Given the description of an element on the screen output the (x, y) to click on. 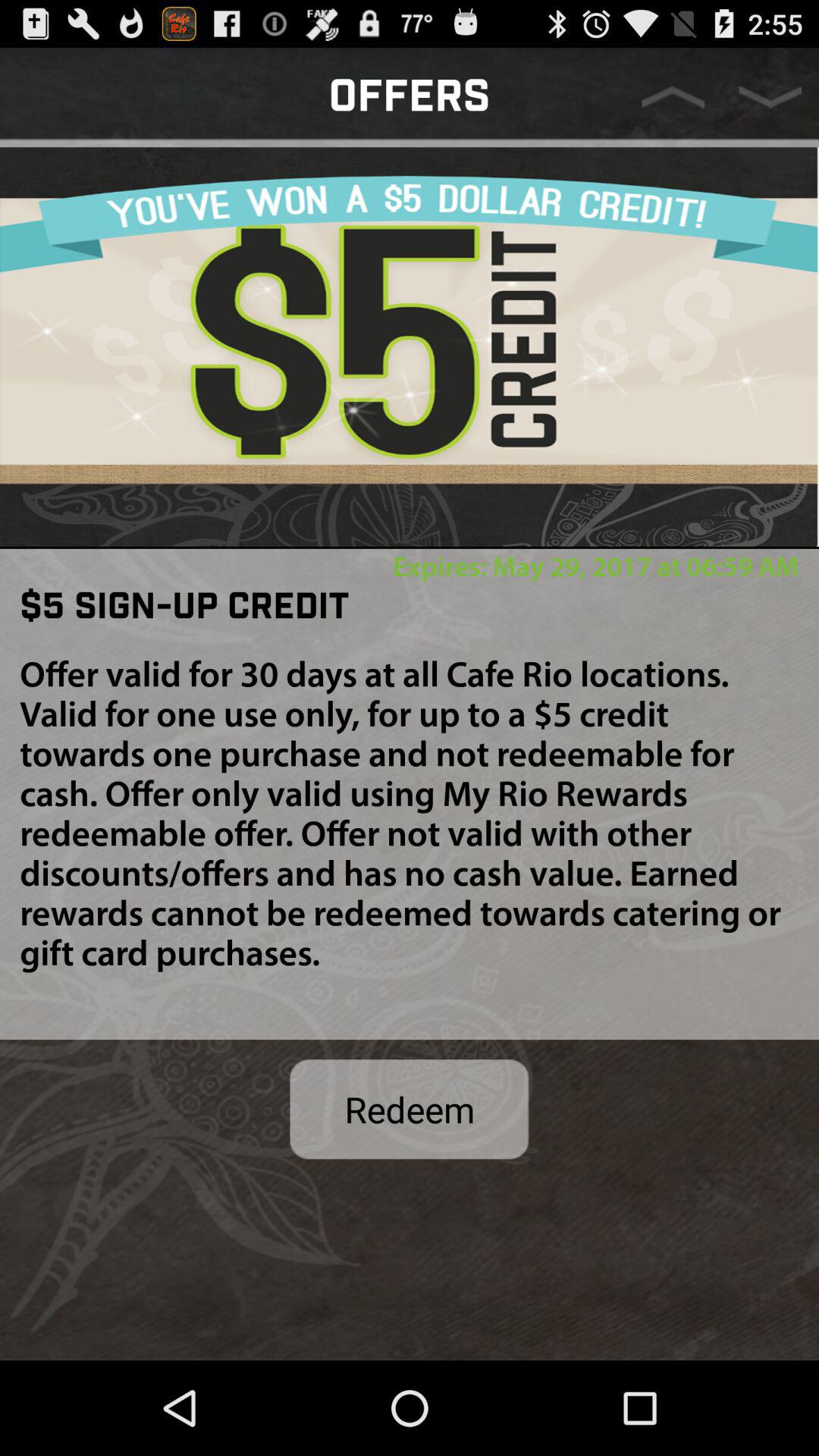
go down (770, 96)
